Given the description of an element on the screen output the (x, y) to click on. 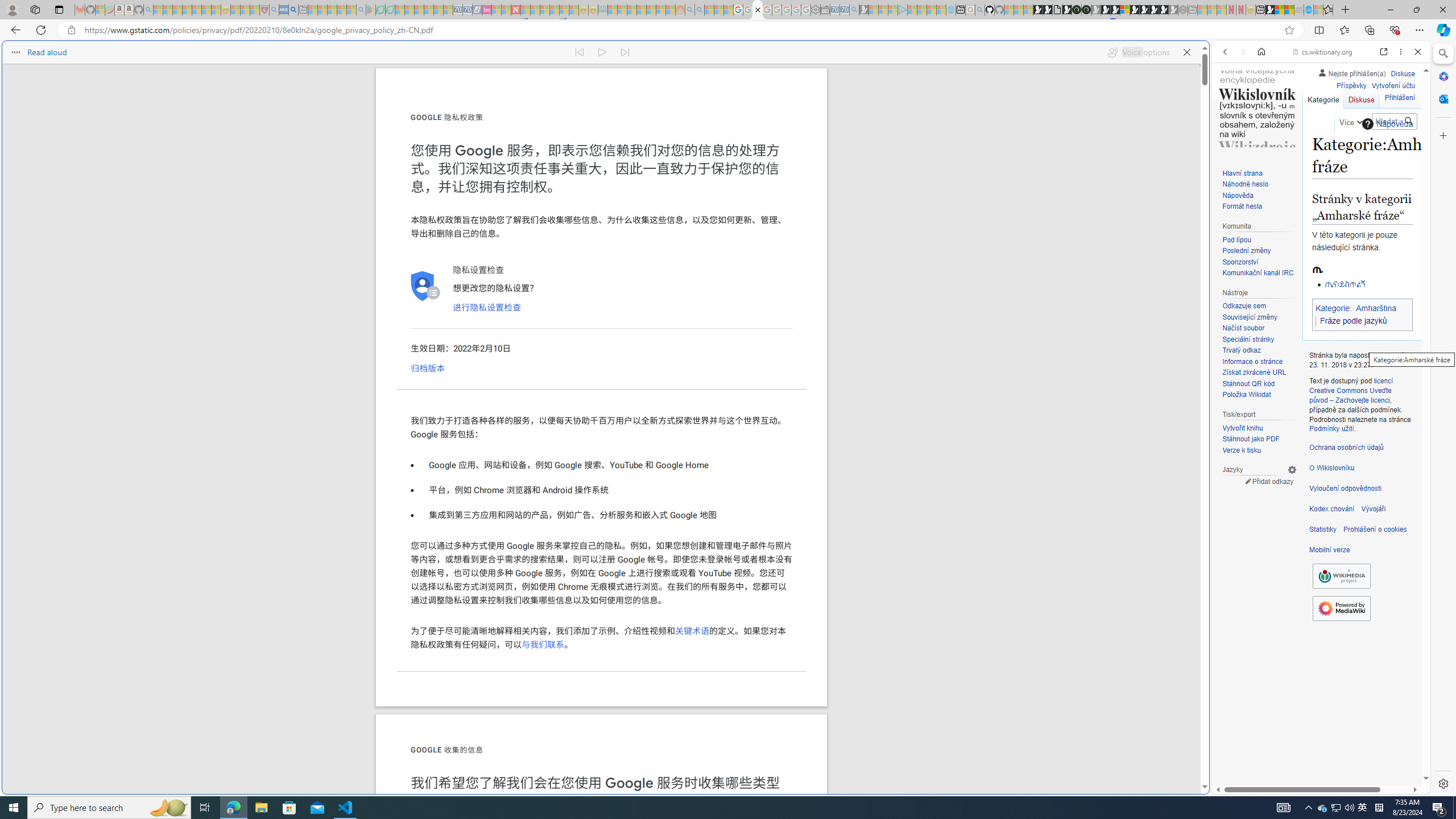
Close split screen (1208, 57)
Odkazuje sem (1259, 306)
Close read aloud (1186, 52)
Microsoft Start Gaming - Sleeping (863, 9)
Settings - Sleeping (815, 9)
Play Cave FRVR in your browser | Games from Microsoft Start (1105, 9)
